Given the description of an element on the screen output the (x, y) to click on. 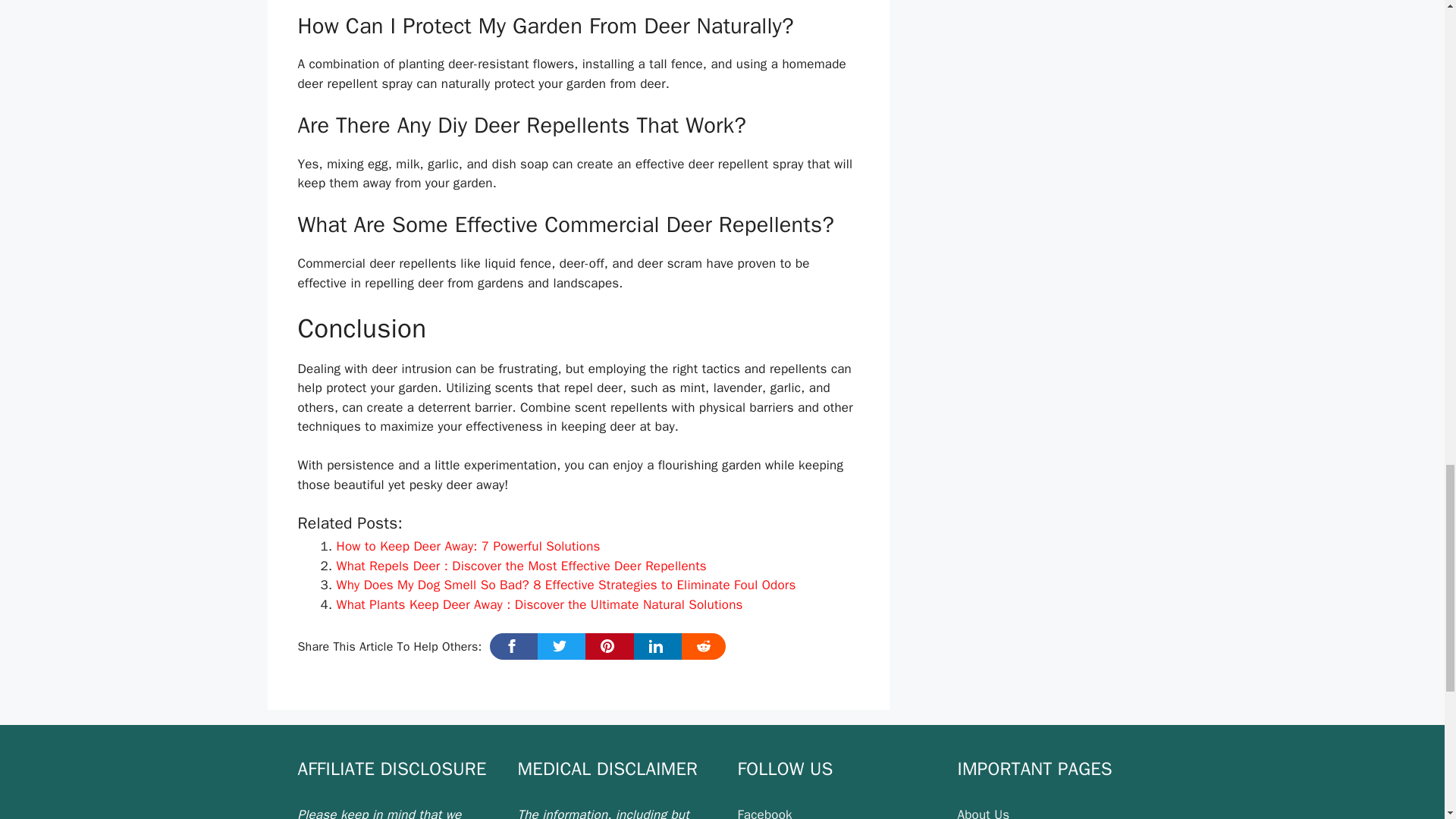
How to Keep Deer Away: 7 Powerful Solutions (467, 546)
How to Keep Deer Away: 7 Powerful Solutions (467, 546)
